Given the description of an element on the screen output the (x, y) to click on. 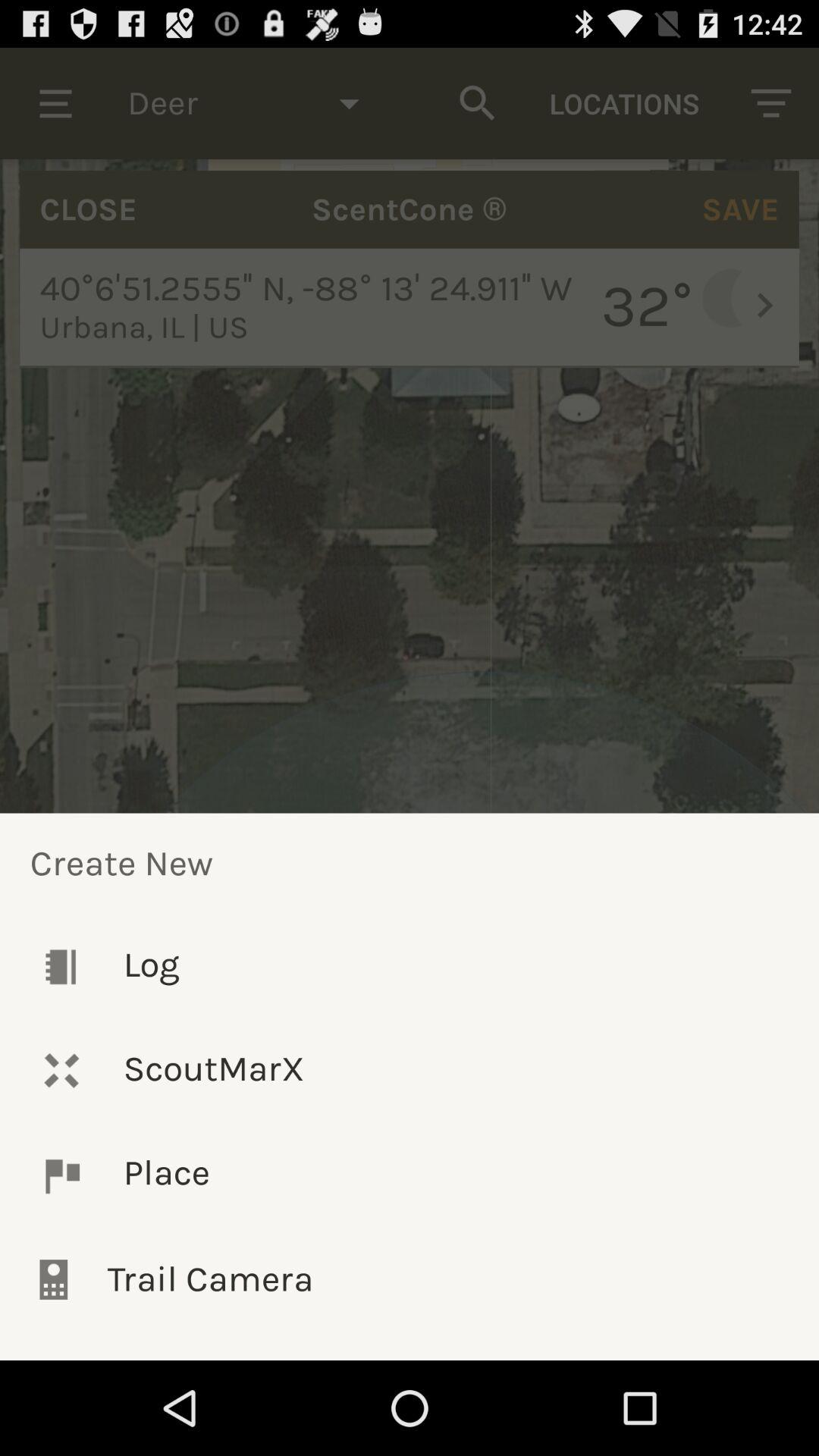
select the icon below the create new icon (409, 966)
